Given the description of an element on the screen output the (x, y) to click on. 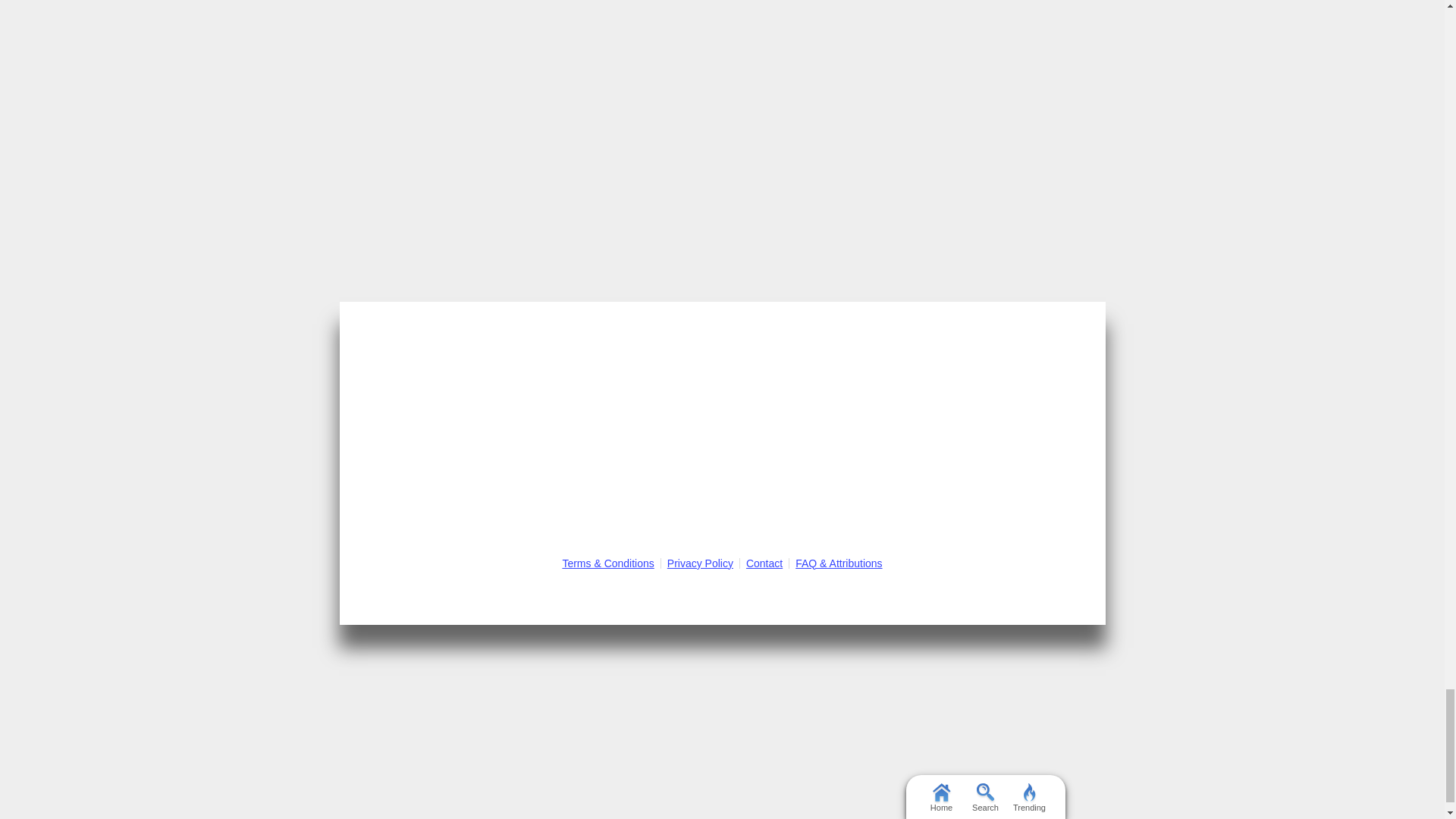
Contact (764, 563)
Privacy Policy (699, 563)
